Given the description of an element on the screen output the (x, y) to click on. 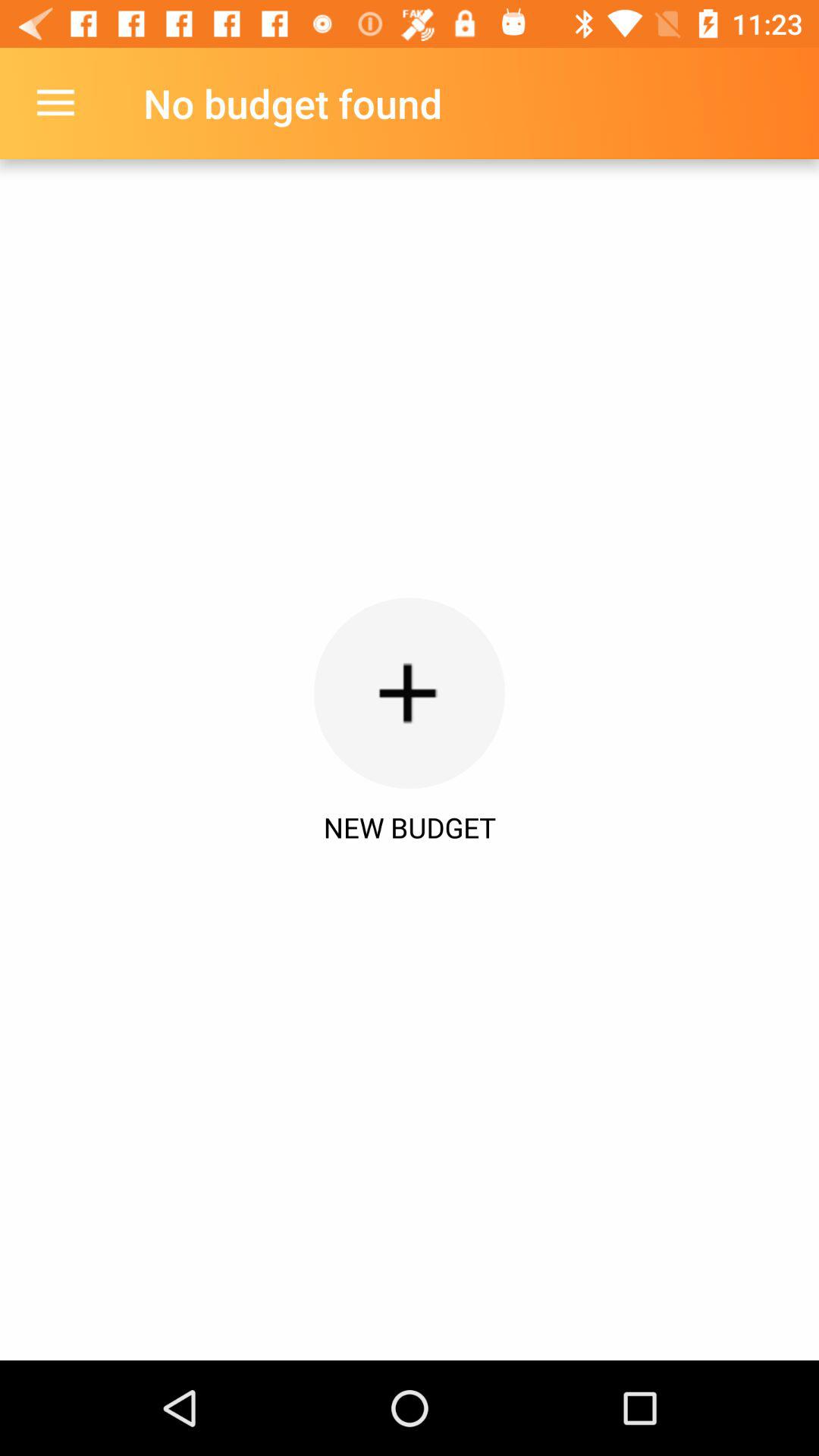
select item to the left of the no budget found item (55, 103)
